Given the description of an element on the screen output the (x, y) to click on. 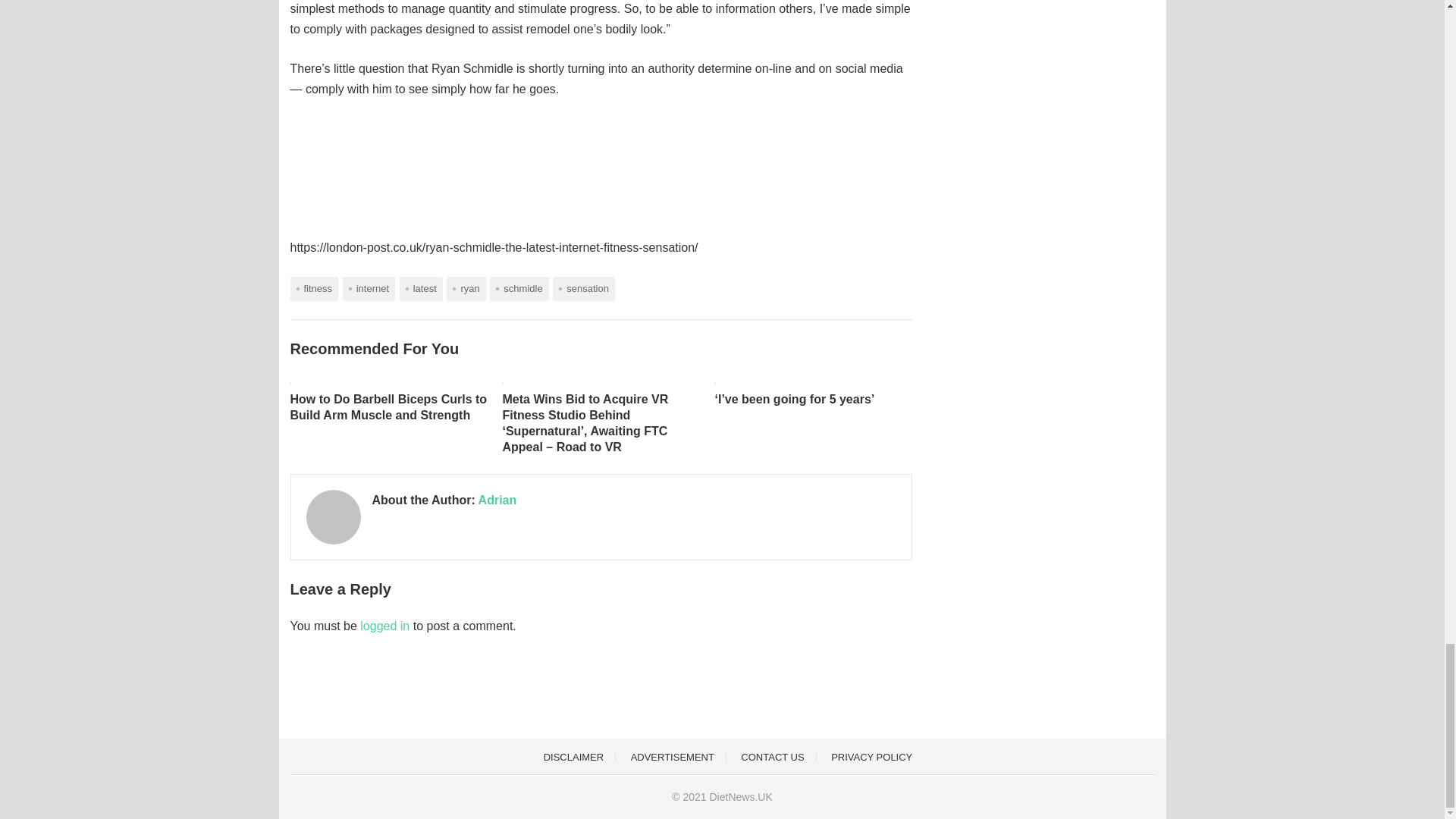
internet (368, 288)
fitness (313, 288)
sensation (583, 288)
ryan (465, 288)
schmidle (518, 288)
latest (420, 288)
